Given the description of an element on the screen output the (x, y) to click on. 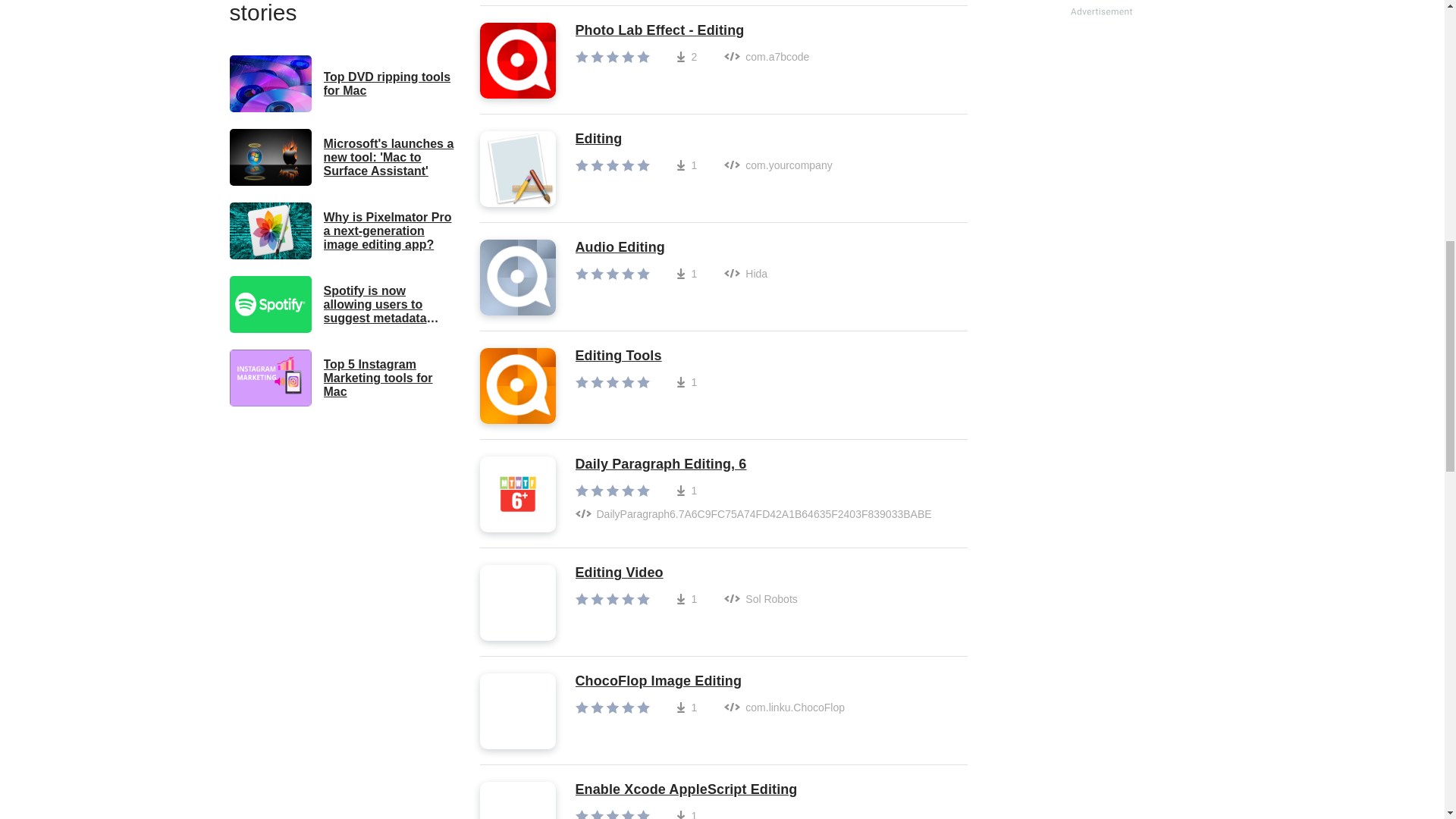
Photo Lab Effect - Editing (692, 30)
Spotify is now allowing users to suggest metadata edits (342, 304)
Editing Video (685, 573)
Why is Pixelmator Pro a next-generation image editing app? (342, 230)
Photo Lab Effect - Editing (692, 30)
Top DVD ripping tools for Mac (342, 83)
Enable Xcode AppleScript Editing (685, 790)
ChocoFlop Image Editing (709, 681)
Microsoft's launches a new tool: 'Mac to Surface Assistant' (342, 156)
Editing (703, 139)
Editing Tools (649, 356)
Audio Editing (671, 247)
Editing (703, 139)
Daily Paragraph Editing, 6 (763, 464)
Top 5 Instagram Marketing tools for Mac (342, 377)
